Given the description of an element on the screen output the (x, y) to click on. 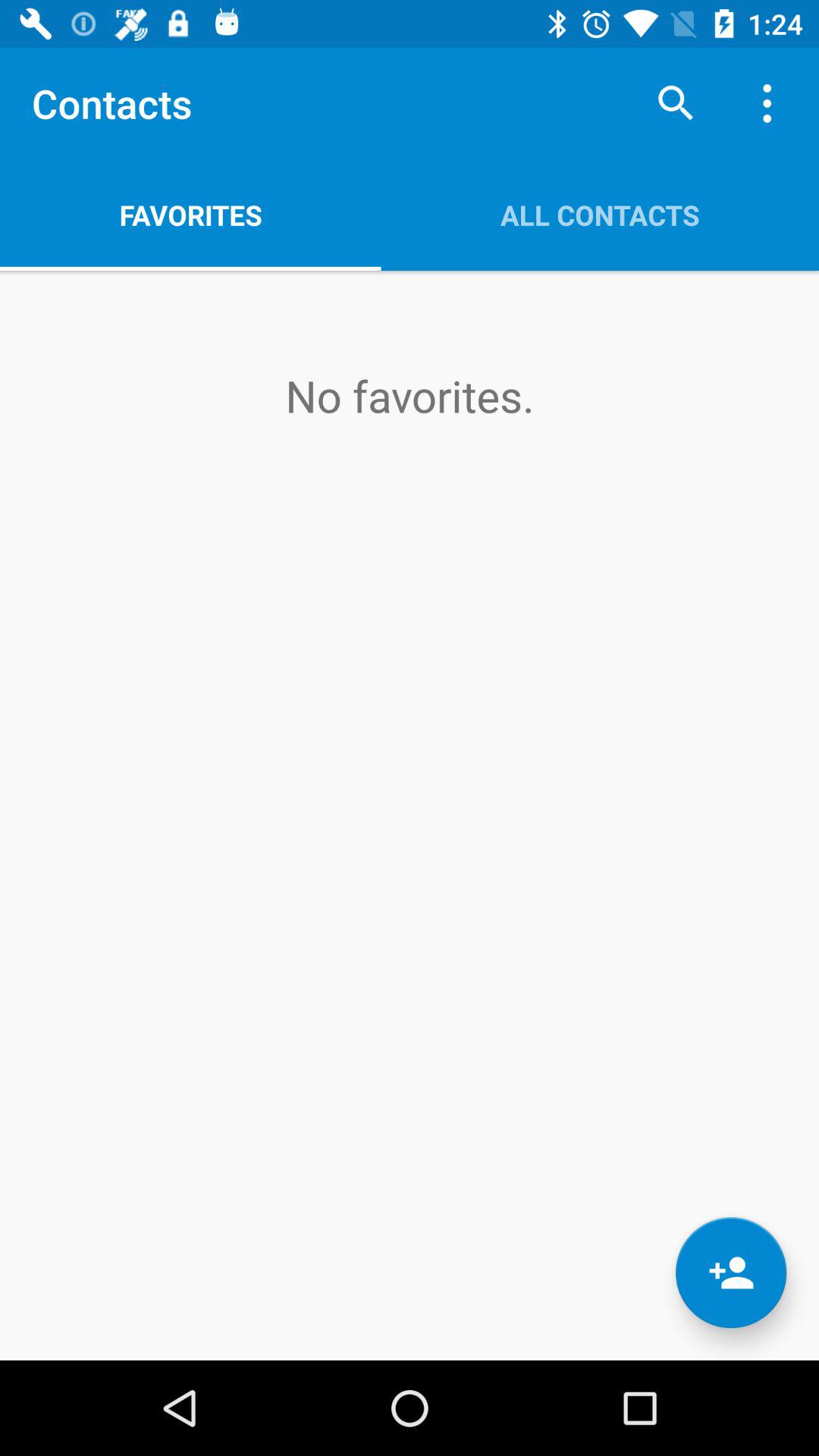
choose item at the bottom right corner (731, 1272)
